Given the description of an element on the screen output the (x, y) to click on. 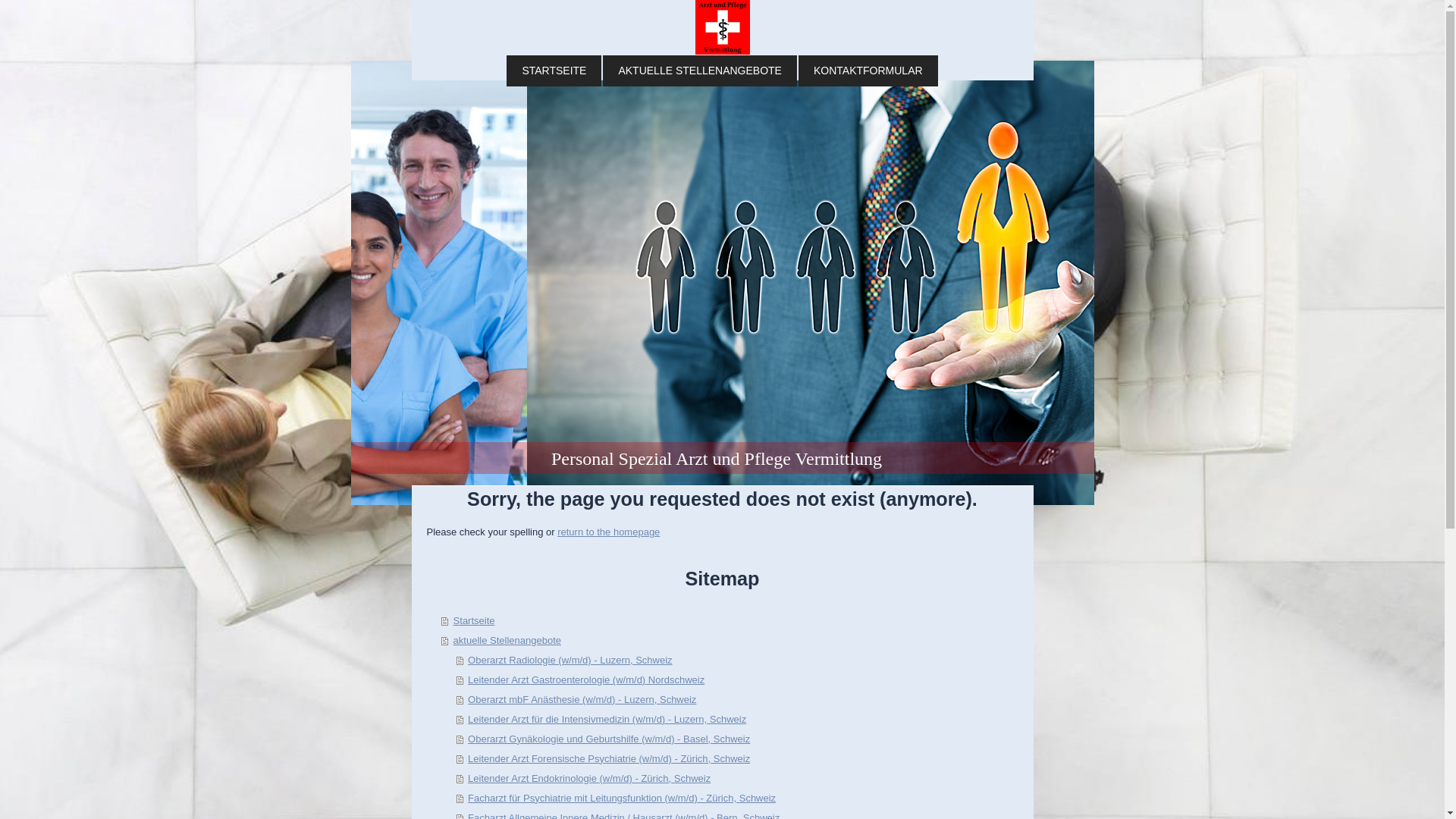
Leitender Arzt Gastroenterologie (w/m/d) Nordschweiz Element type: text (737, 680)
Oberarzt Radiologie (w/m/d) - Luzern, Schweiz Element type: text (737, 660)
STARTSEITE Element type: text (553, 70)
KONTAKTFORMULAR Element type: text (868, 70)
AKTUELLE STELLENANGEBOTE Element type: text (699, 70)
return to the homepage Element type: text (608, 531)
Startseite Element type: text (729, 620)
aktuelle Stellenangebote Element type: text (729, 640)
